Given the description of an element on the screen output the (x, y) to click on. 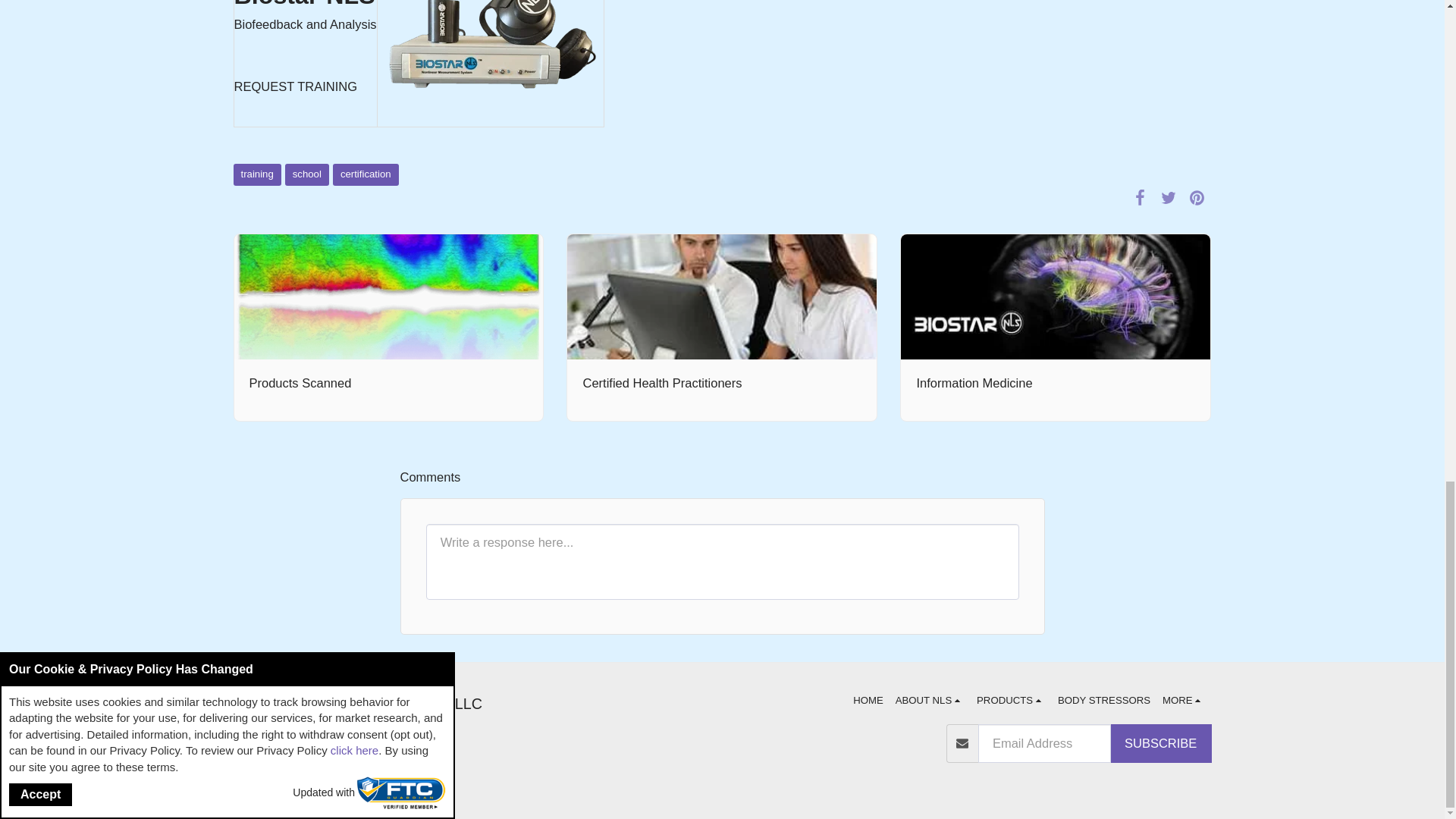
Share on Facebook (1139, 197)
Tweet (1168, 197)
Pin it (1196, 197)
